Given the description of an element on the screen output the (x, y) to click on. 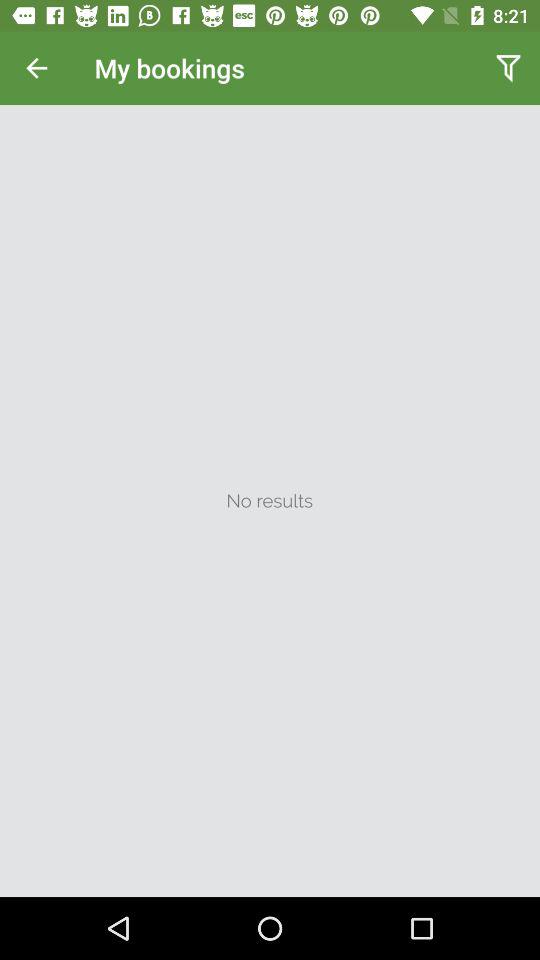
my bookings results page (270, 501)
